Given the description of an element on the screen output the (x, y) to click on. 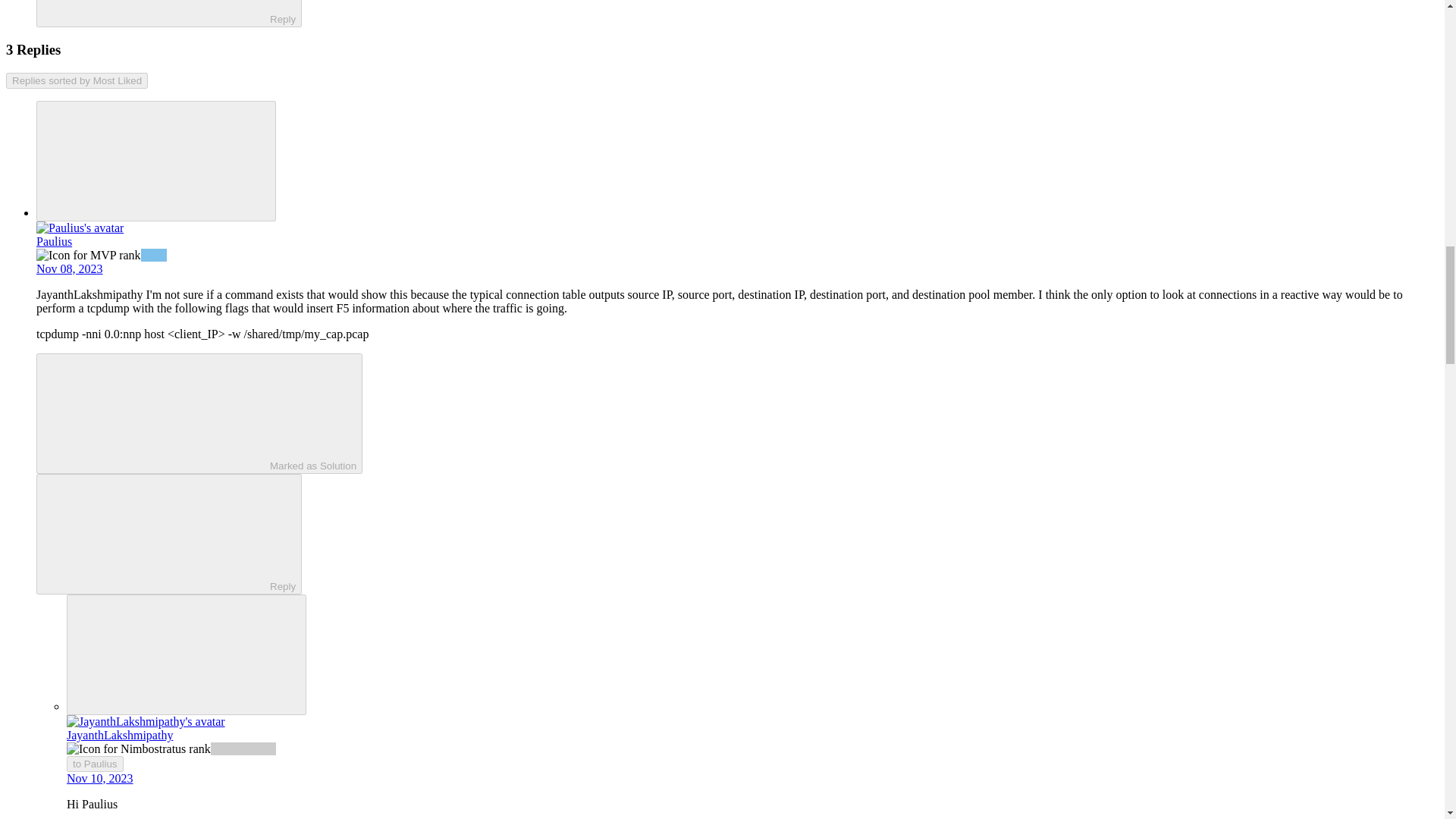
Marked as Solution (199, 413)
November 10, 2023 at 7:51 AM (99, 778)
JayanthLakshmipathy (89, 294)
Nov 08, 2023 (69, 268)
ReplyReply (168, 534)
ReplyReply (168, 13)
Reply (155, 11)
JayanthLakshmipathy (119, 735)
Replies sorted by Most Liked (76, 80)
Paulius (53, 241)
to Paulius (94, 763)
Reply (155, 532)
November 8, 2023 at 5:38 AM (69, 268)
